Given the description of an element on the screen output the (x, y) to click on. 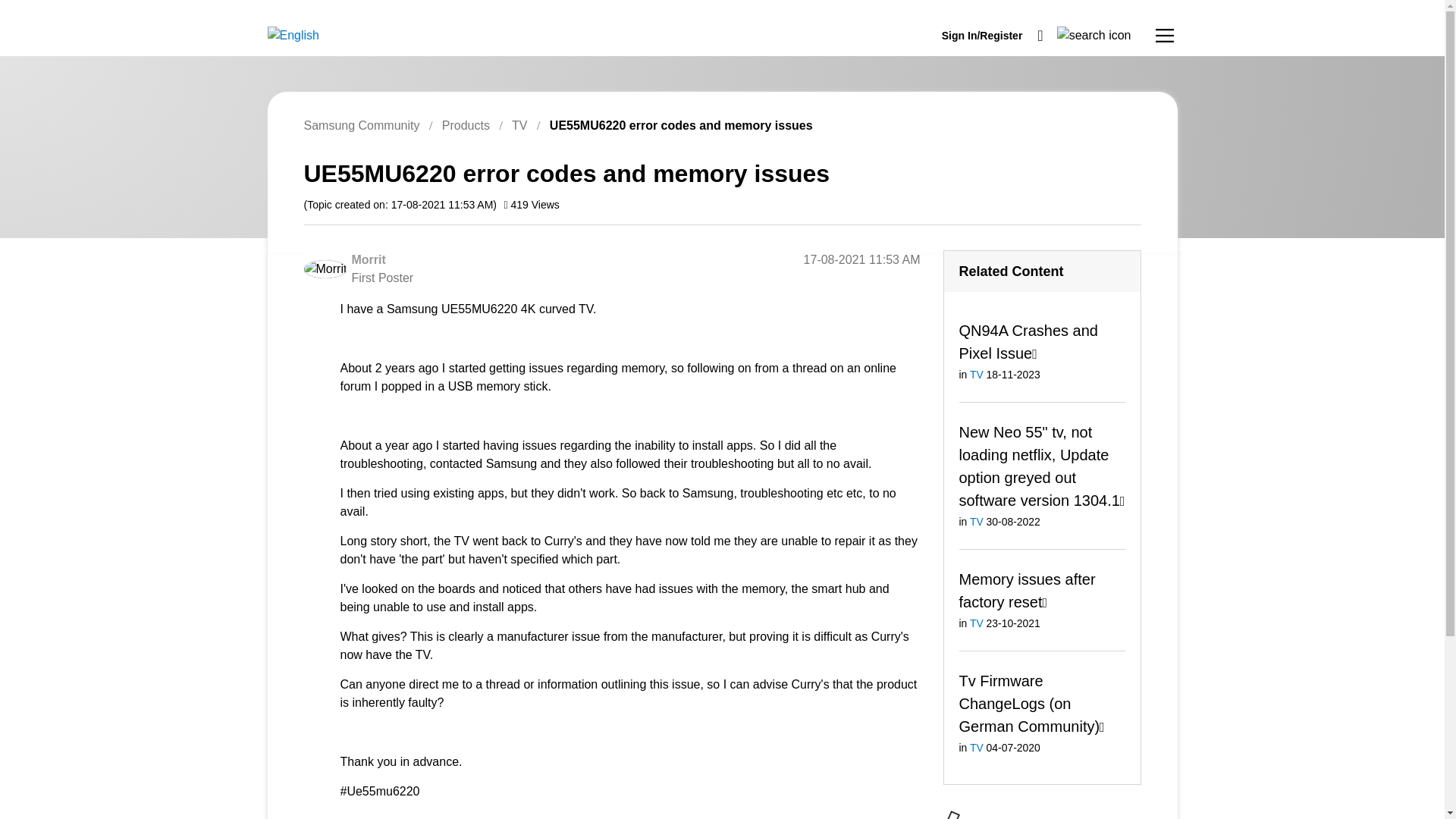
Community (1164, 35)
TV (976, 374)
English (292, 35)
QN94A Crashes and Pixel Issue (1027, 341)
English (292, 34)
Morrit (324, 269)
Morrit (367, 259)
Memory issues after factory reset (1026, 589)
Samsung Community (360, 124)
